Given the description of an element on the screen output the (x, y) to click on. 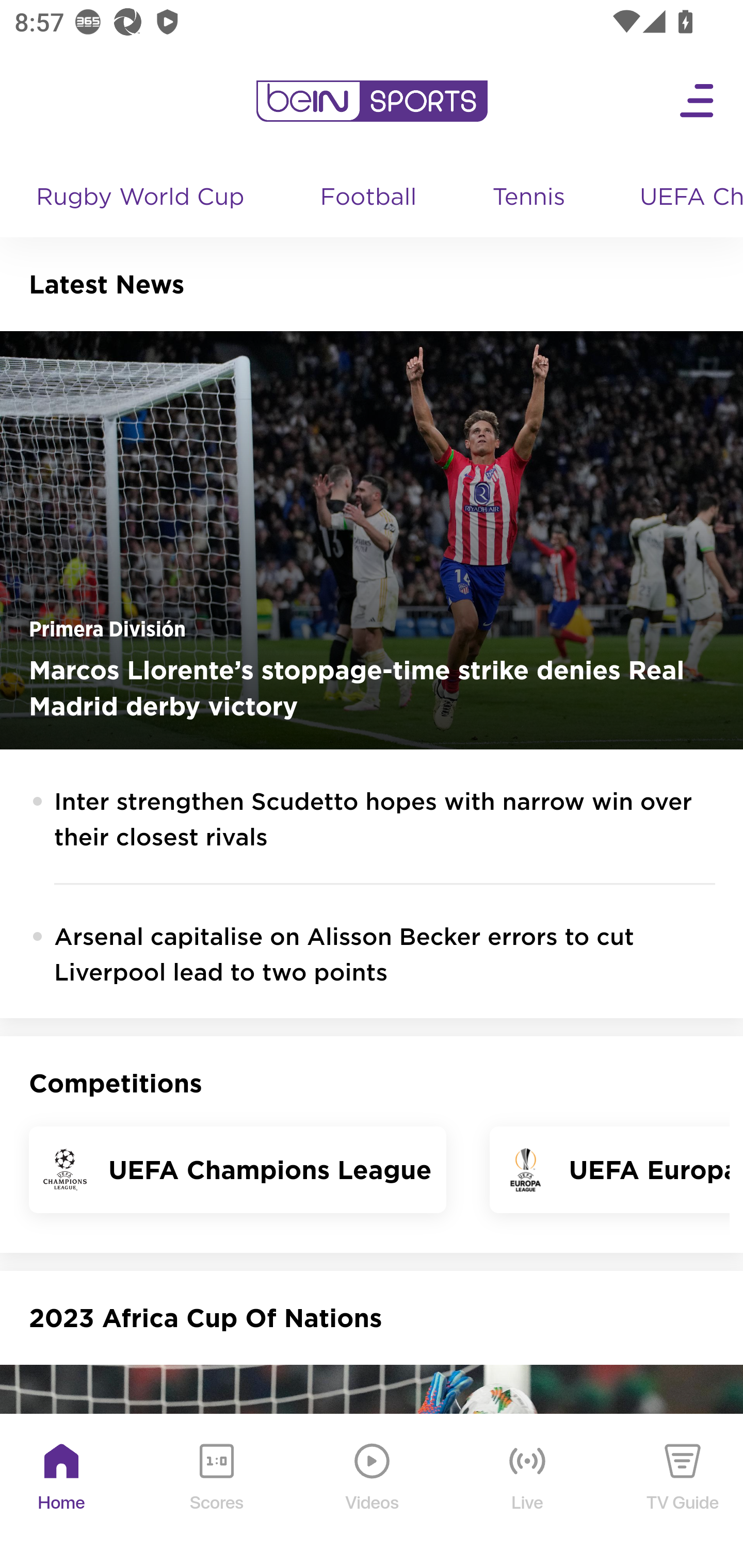
en-my?platform=mobile_android bein logo (371, 101)
Open Menu Icon (697, 101)
Rugby World Cup (142, 198)
Football (369, 198)
Tennis (530, 198)
Home Home Icon Home (61, 1491)
Scores Scores Icon Scores (216, 1491)
Videos Videos Icon Videos (372, 1491)
TV Guide TV Guide Icon TV Guide (682, 1491)
